Given the description of an element on the screen output the (x, y) to click on. 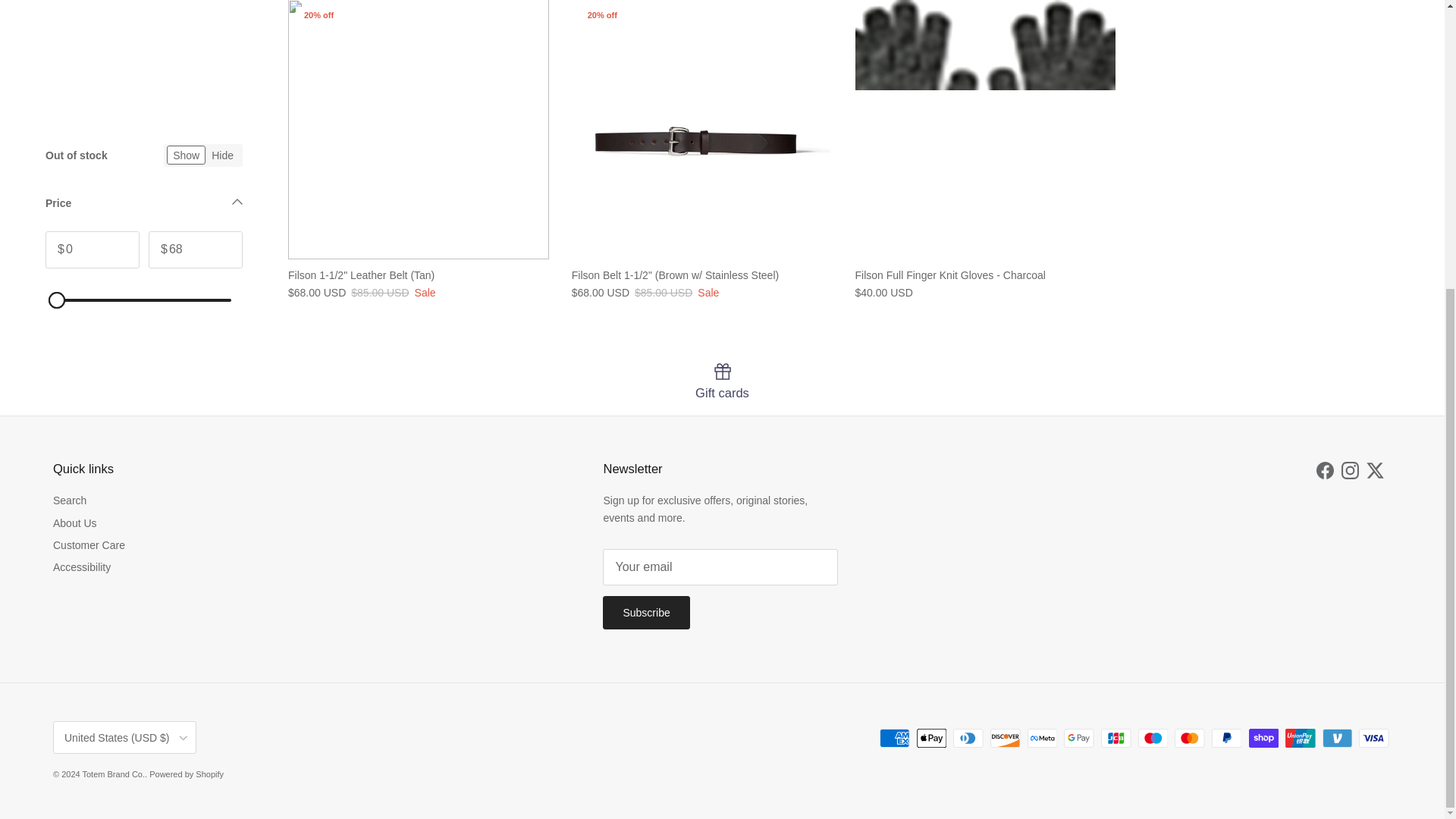
Discover (1005, 737)
JCB (1115, 737)
Totem Brand Co. on Instagram (1349, 470)
Google Pay (1078, 737)
Apple Pay (931, 737)
Meta Pay (1042, 737)
Maestro (1152, 737)
Totem Brand Co. on Twitter (1375, 470)
Mastercard (1189, 737)
Diners Club (967, 737)
American Express (894, 737)
Totem Brand Co. on Facebook (1324, 470)
